Given the description of an element on the screen output the (x, y) to click on. 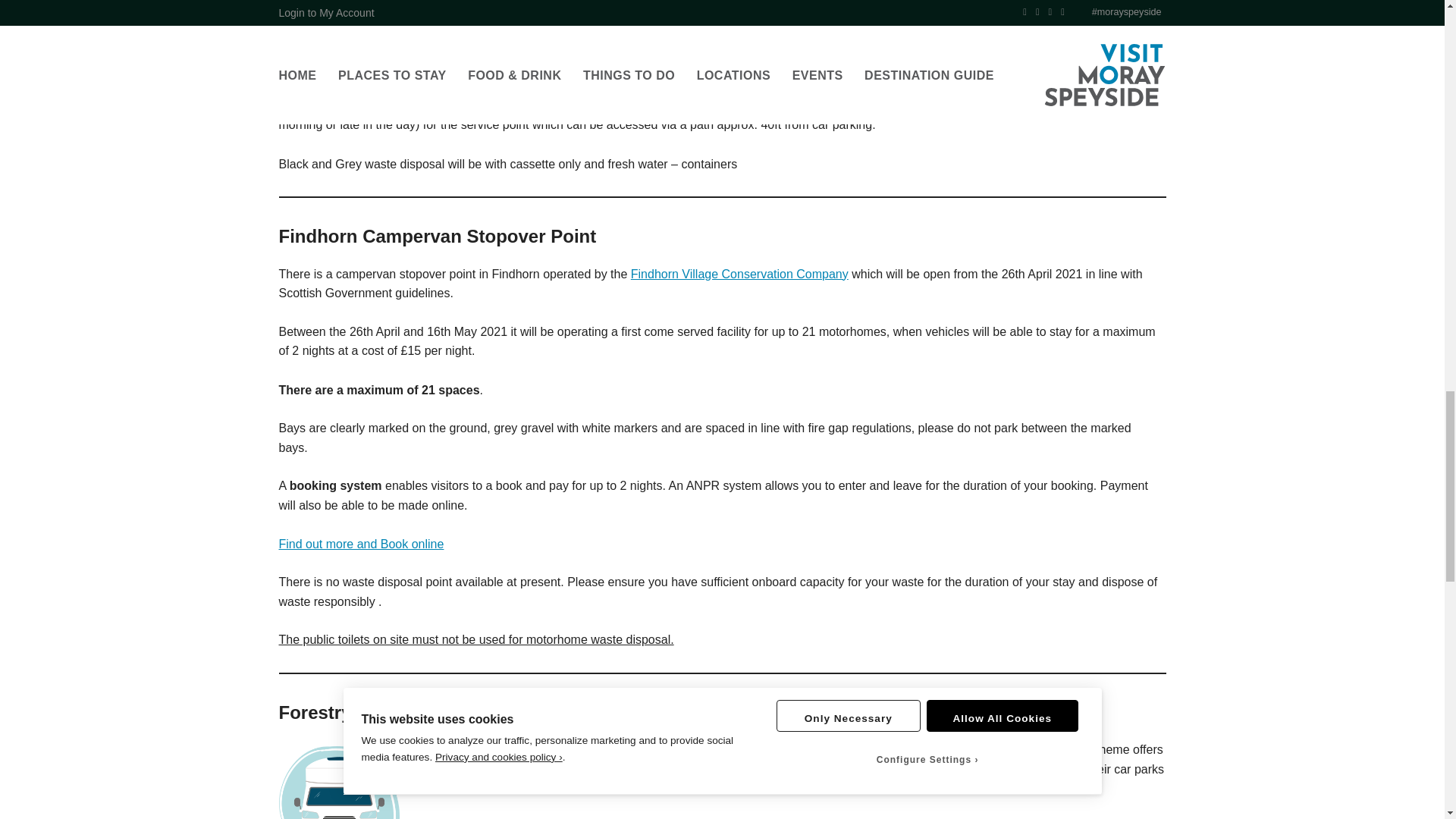
Find out more and Book online (361, 543)
Findhorn Village Conservation Company (739, 273)
